Given the description of an element on the screen output the (x, y) to click on. 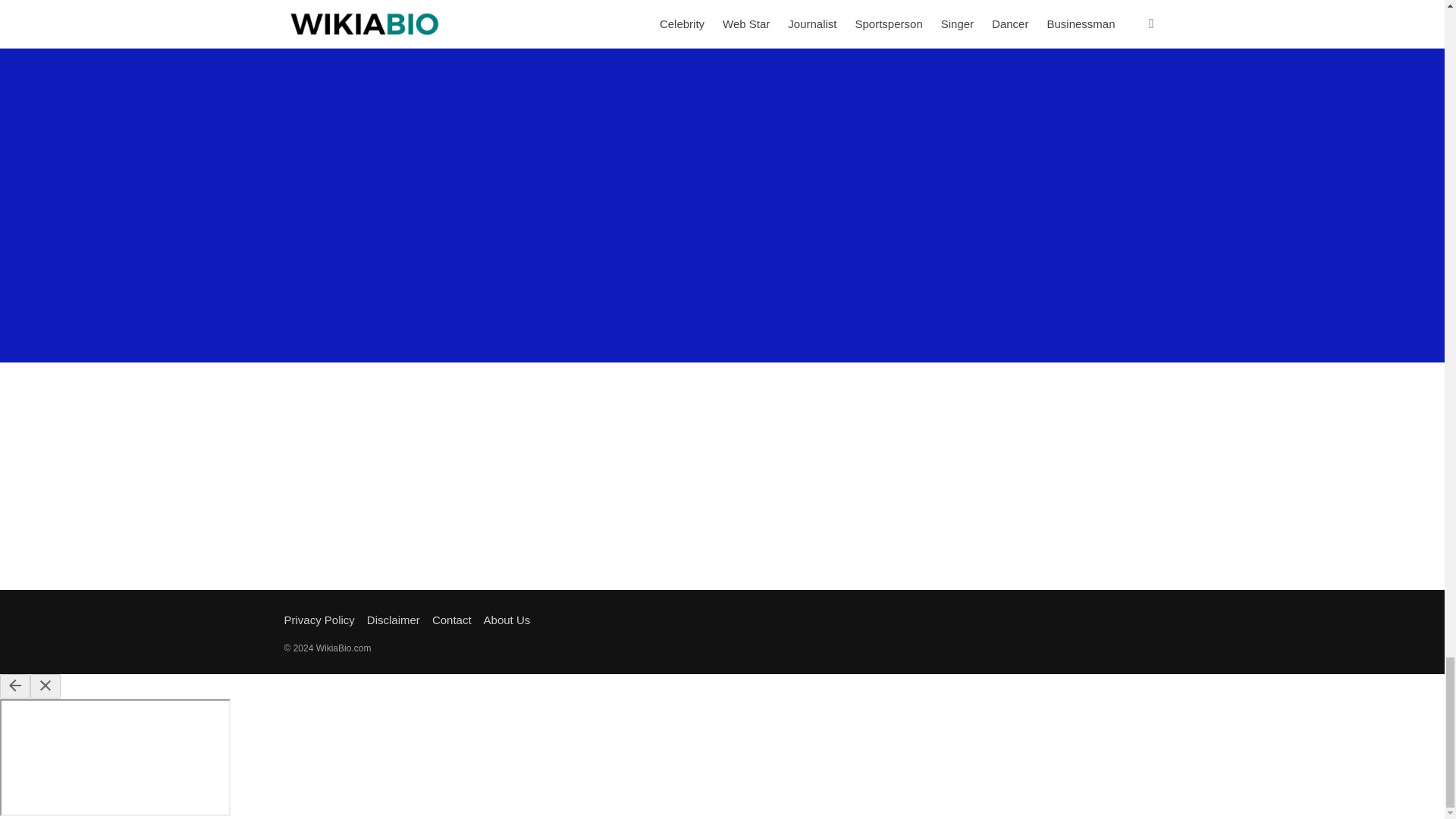
February 28, 2024 (793, 25)
February 12, 2024 (568, 25)
